Given the description of an element on the screen output the (x, y) to click on. 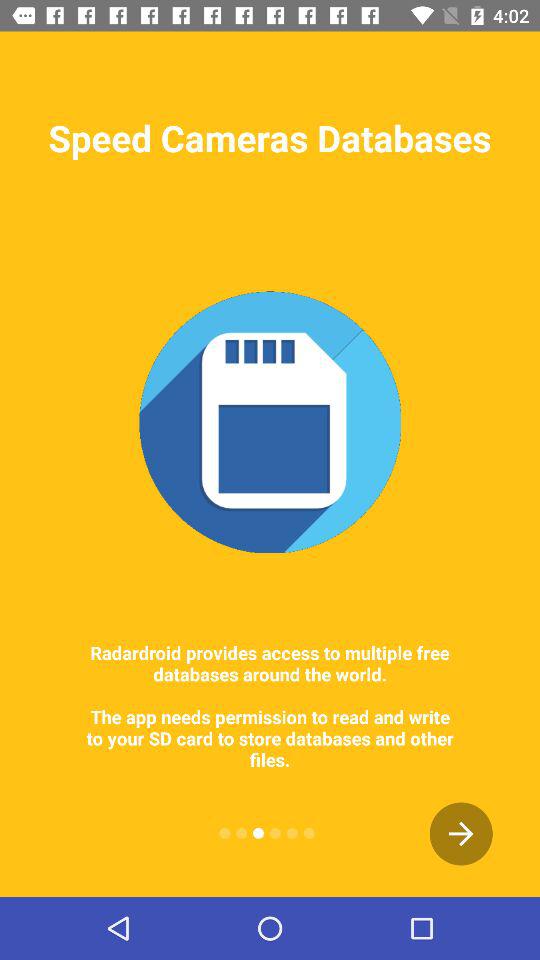
to next page (461, 834)
